Given the description of an element on the screen output the (x, y) to click on. 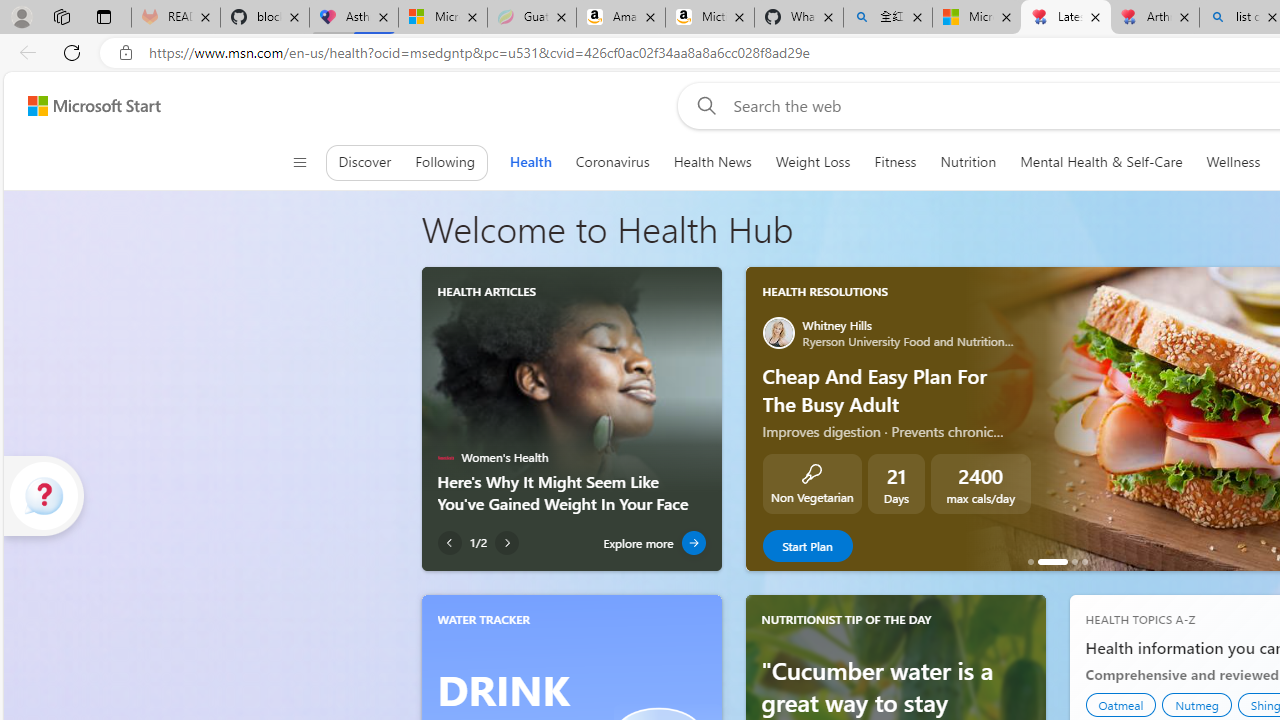
Health (530, 161)
Skip to footer (82, 105)
Coronavirus (612, 161)
Arthritis: Ask Health Professionals (1155, 17)
Weight Loss (812, 162)
Oatmeal (1121, 704)
Nutrition (968, 161)
Weight Loss (812, 161)
Mental Health & Self-Care (1101, 161)
Women's Health (445, 457)
Vegetarian Low Calorie Meal Plan (1074, 561)
